Given the description of an element on the screen output the (x, y) to click on. 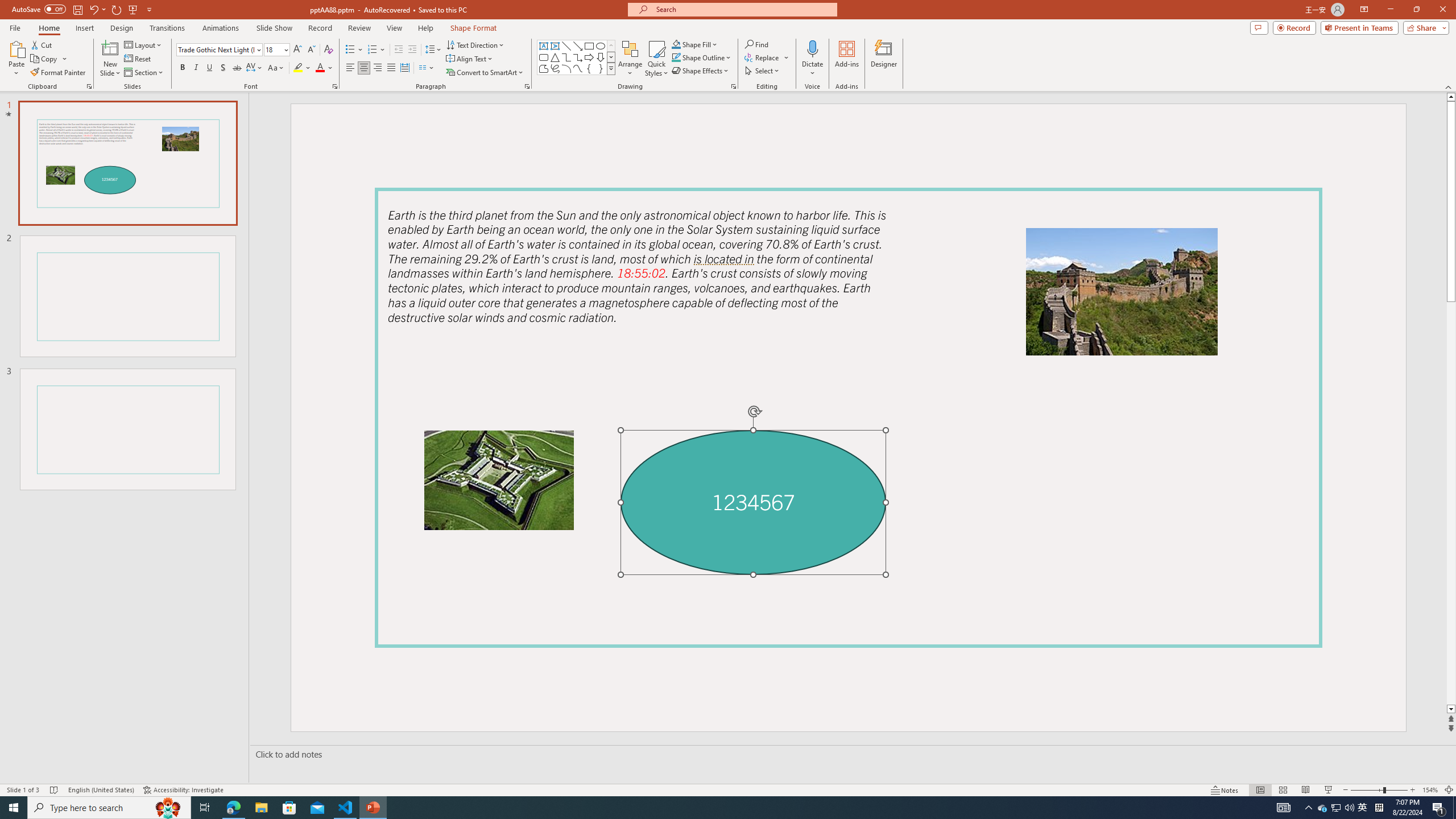
Shape Fill Aqua, Accent 2 (675, 44)
